Given the description of an element on the screen output the (x, y) to click on. 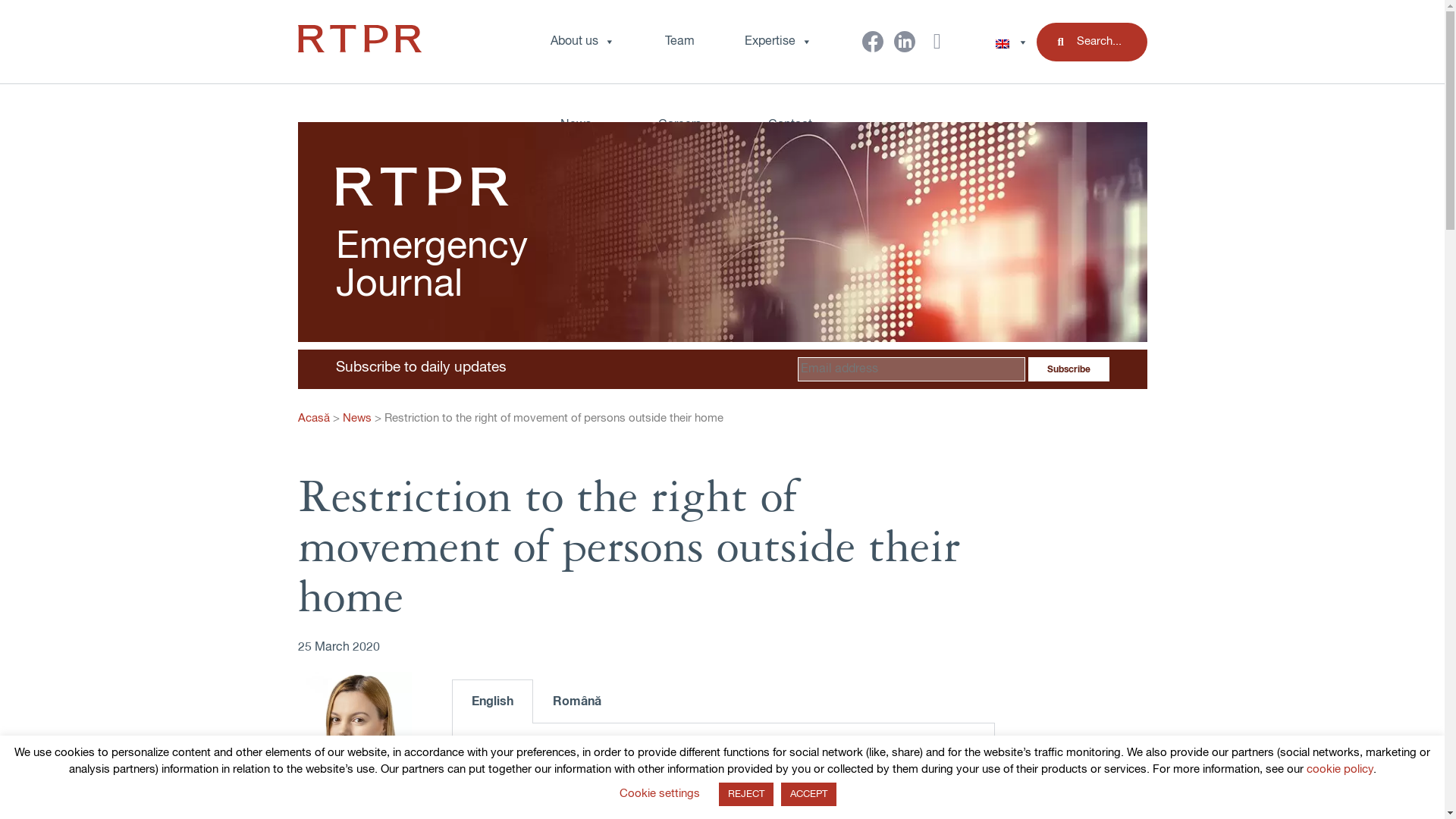
Expertise (777, 41)
Cezara Urzica (353, 814)
Subscribe (1068, 369)
Subscribe (1068, 369)
